Given the description of an element on the screen output the (x, y) to click on. 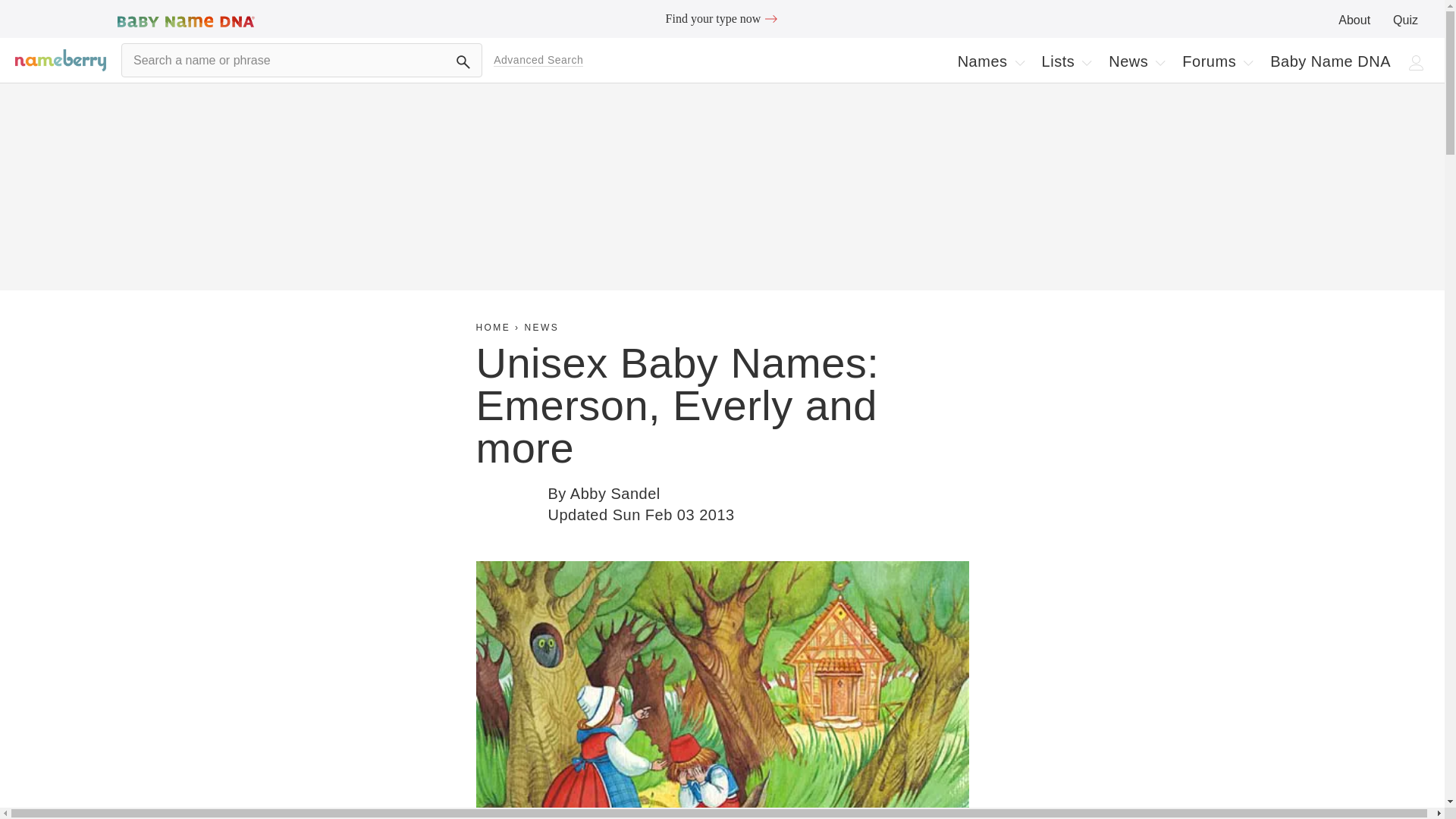
Chevron - Down (1019, 62)
NEWS (541, 327)
Chevron - Down (1160, 62)
By Abby Sandel (990, 61)
Advanced Search (603, 493)
Arrow Right (538, 60)
Chevron - Down (1066, 61)
User (770, 18)
